Given the description of an element on the screen output the (x, y) to click on. 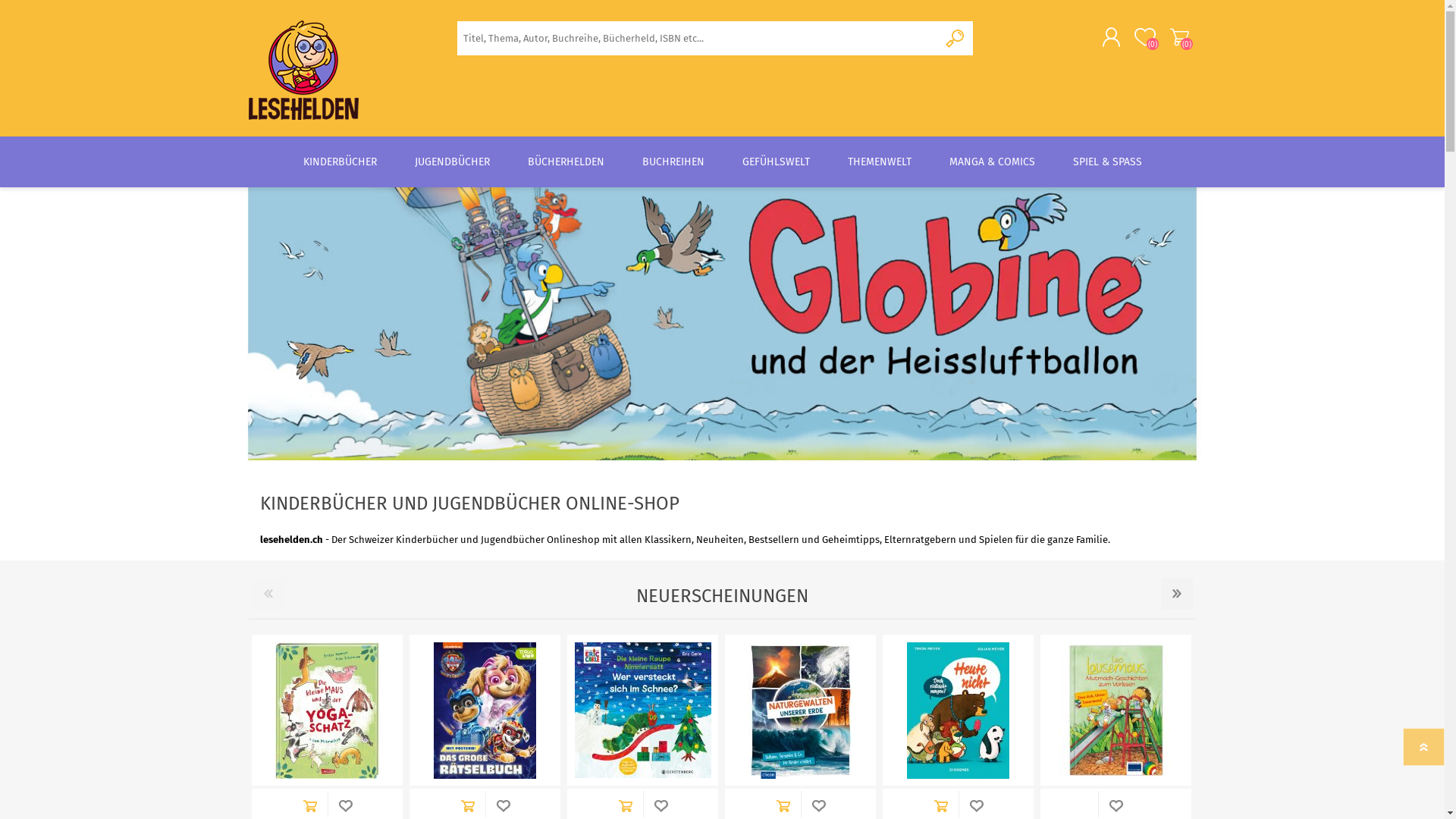
Bild zu Heute nicht Element type: hover (957, 710)
Bild zu Naturgewalten unserer Erde Element type: hover (799, 709)
Bild zu Die kleine Maus und der Yoga-Schatz Element type: hover (326, 709)
Wunschliste
(0) Element type: text (1145, 36)
Bild zu Heute nicht Element type: hover (957, 709)
Next Element type: text (1176, 593)
MANGA & COMICS Element type: text (991, 161)
BUCHREIHEN Element type: text (673, 161)
Bild zu Naturgewalten unserer Erde Element type: hover (799, 710)
Warenkorb Element type: text (1178, 36)
SPIEL & SPASS Element type: text (1107, 161)
THEMENWELT Element type: text (878, 161)
Bild zu Leo Lausemaus - Mutmach-Geschichten Element type: hover (1116, 710)
Previous Element type: text (267, 593)
Bild zu Die kleine Maus und der Yoga-Schatz Element type: hover (327, 710)
Bild zu Leo Lausemaus - Mutmach-Geschichten Element type: hover (1115, 709)
Suchen Element type: text (955, 38)
